Given the description of an element on the screen output the (x, y) to click on. 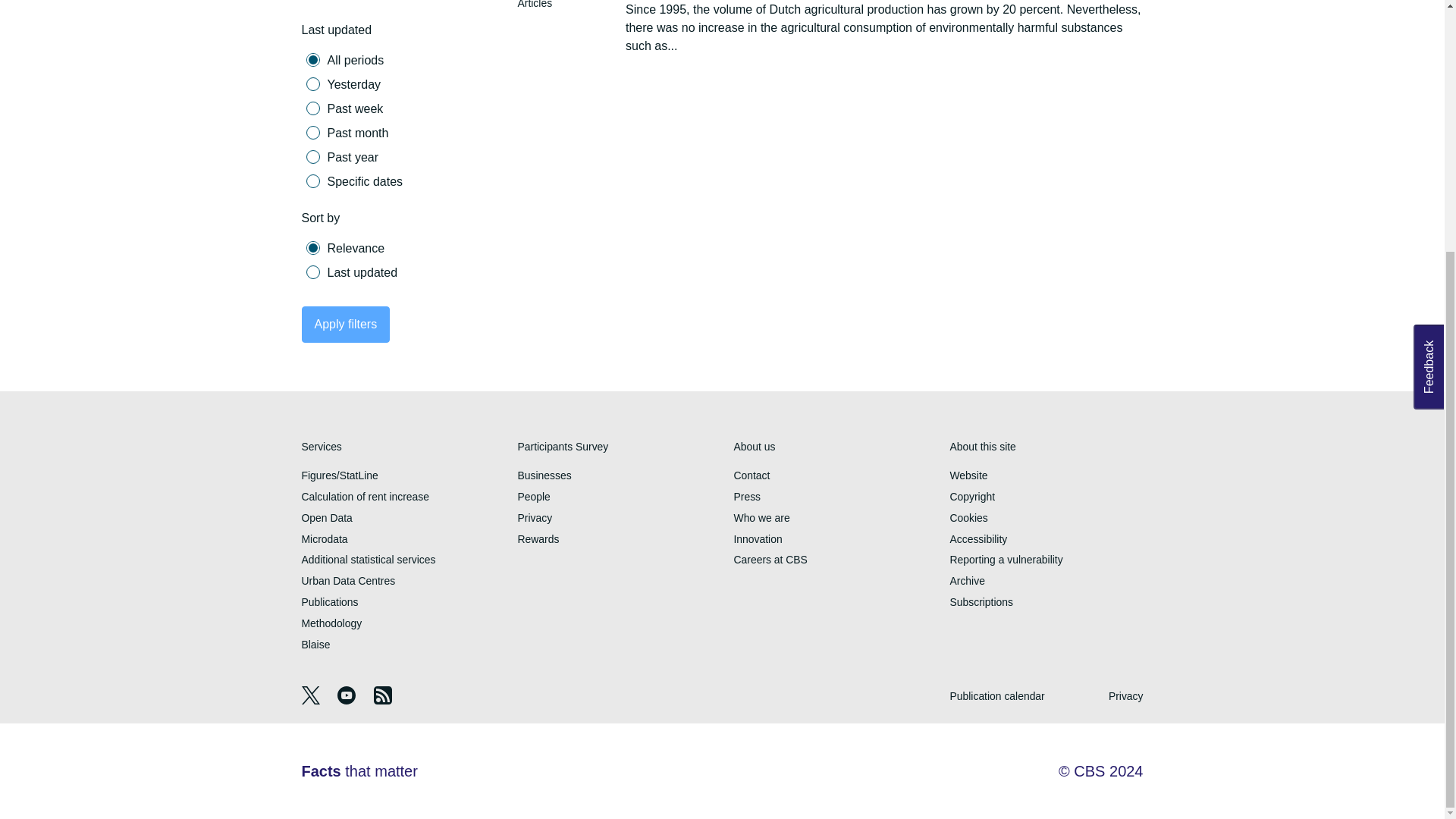
X (312, 700)
YouTube (347, 700)
RSS (382, 700)
